Given the description of an element on the screen output the (x, y) to click on. 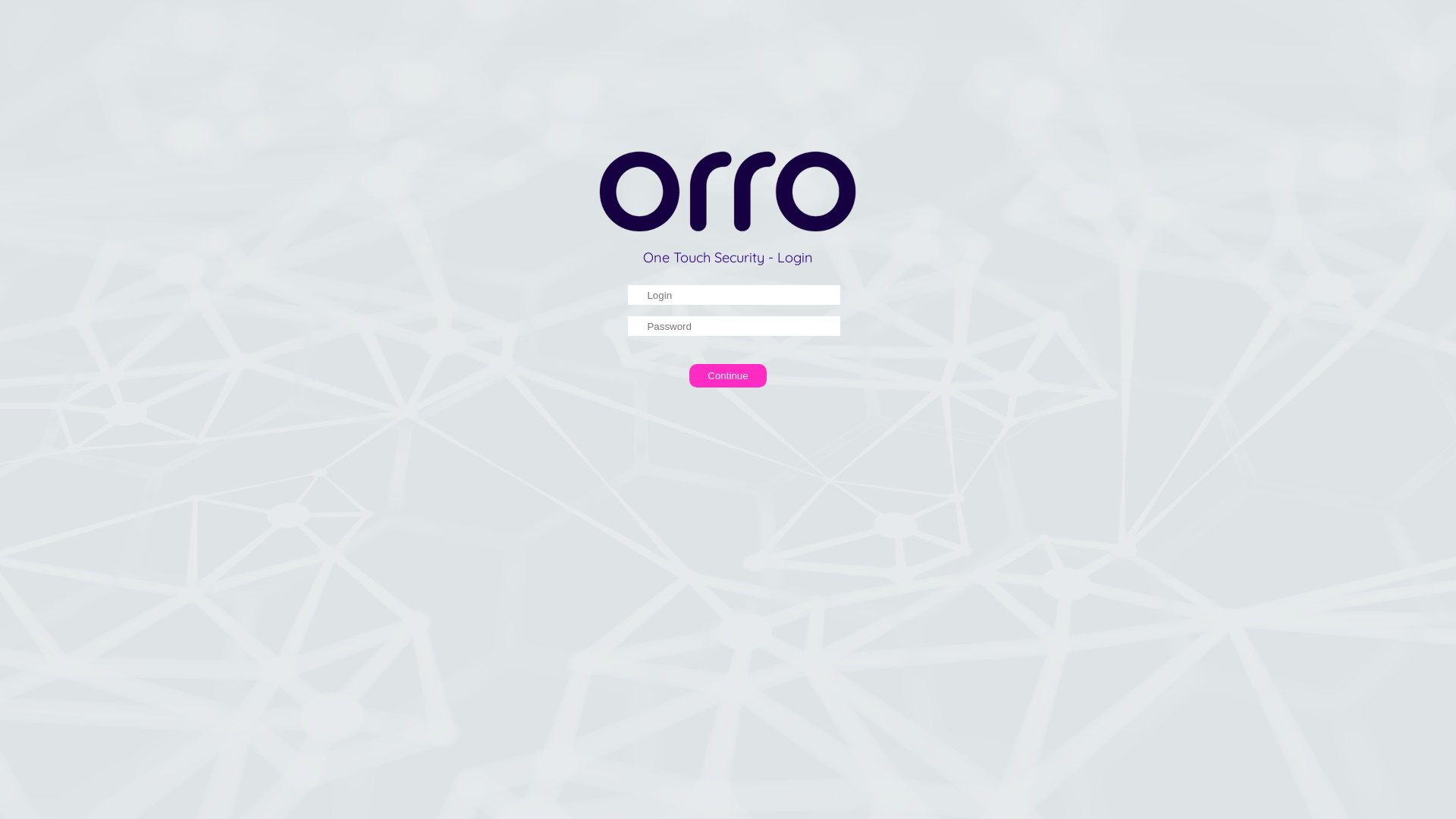
Continue Element type: text (728, 375)
